Given the description of an element on the screen output the (x, y) to click on. 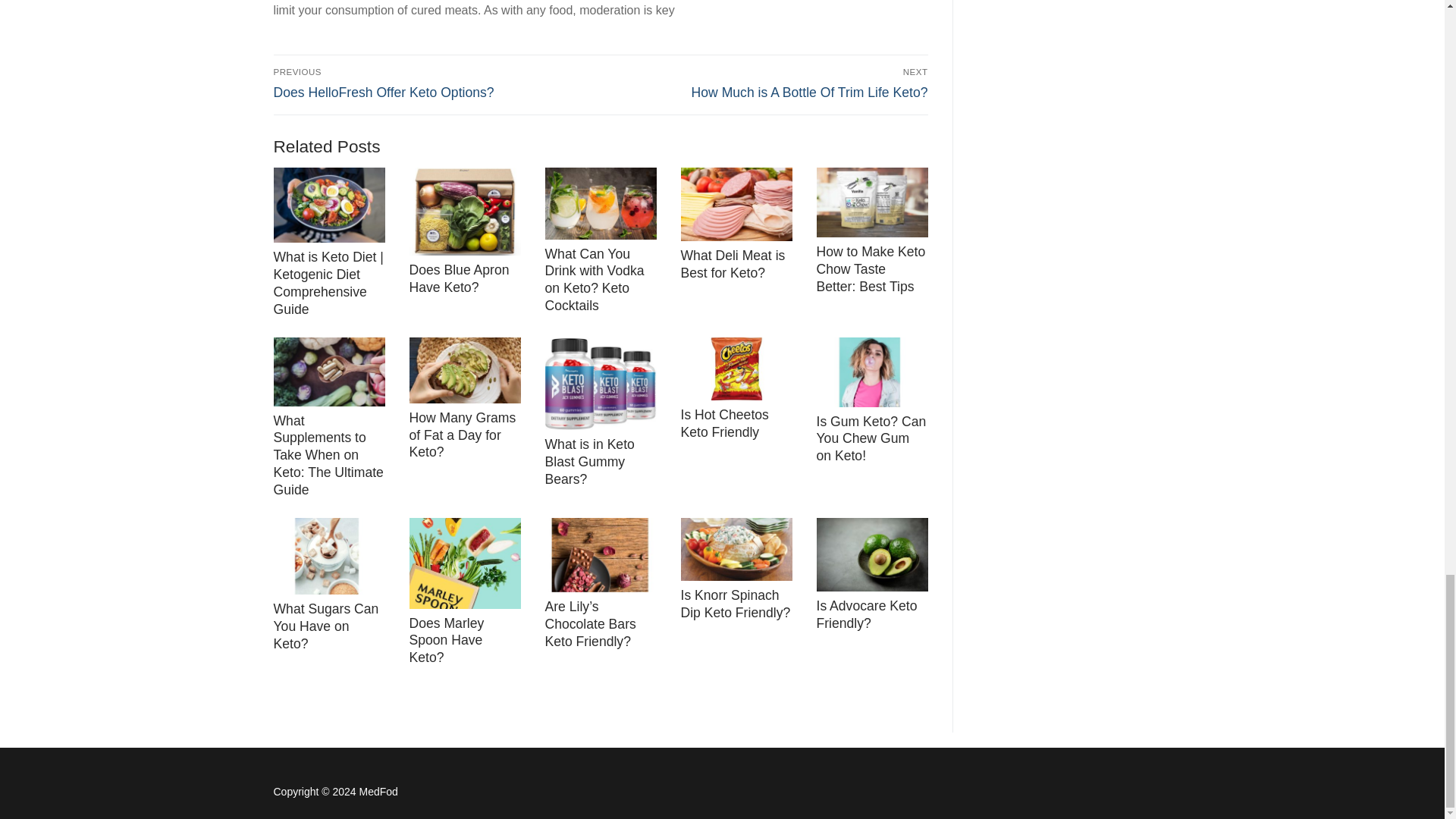
What Deli Meat is Best for Keto? (733, 264)
What Deli Meat is Best for Keto? (733, 264)
How to Make Keto Chow Taste Better: Best Tips (869, 269)
How Many Grams of Fat a Day for Keto? (462, 435)
Does Blue Apron Have Keto? (459, 278)
Does Blue Apron Have Keto? (465, 211)
What Deli Meat is Best for Keto? (736, 203)
What Can You Drink with Vodka on Keto? Keto Cocktails (593, 279)
Does Blue Apron Have Keto? (459, 278)
